Given the description of an element on the screen output the (x, y) to click on. 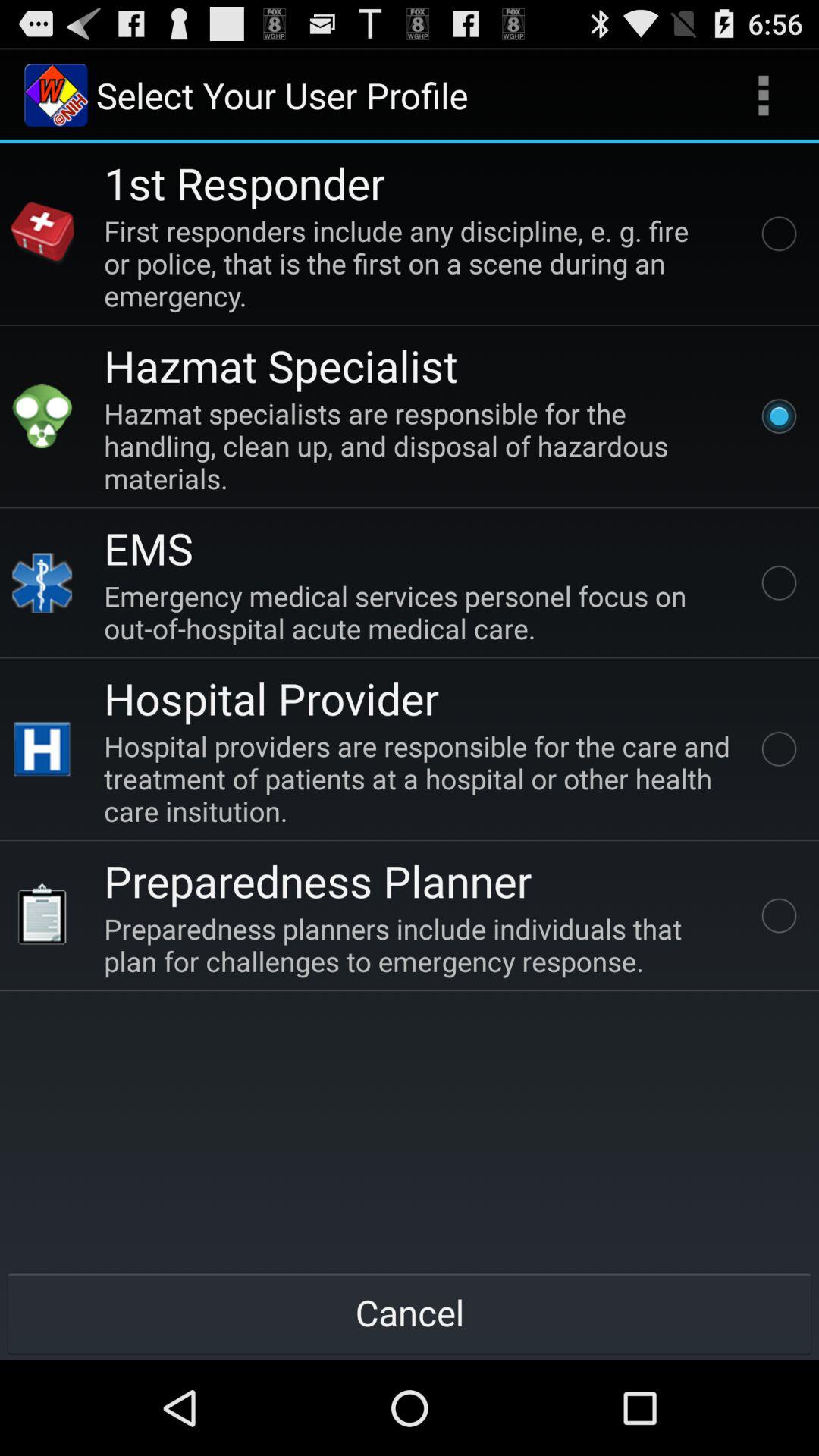
open the app to the right of select your user icon (763, 95)
